Given the description of an element on the screen output the (x, y) to click on. 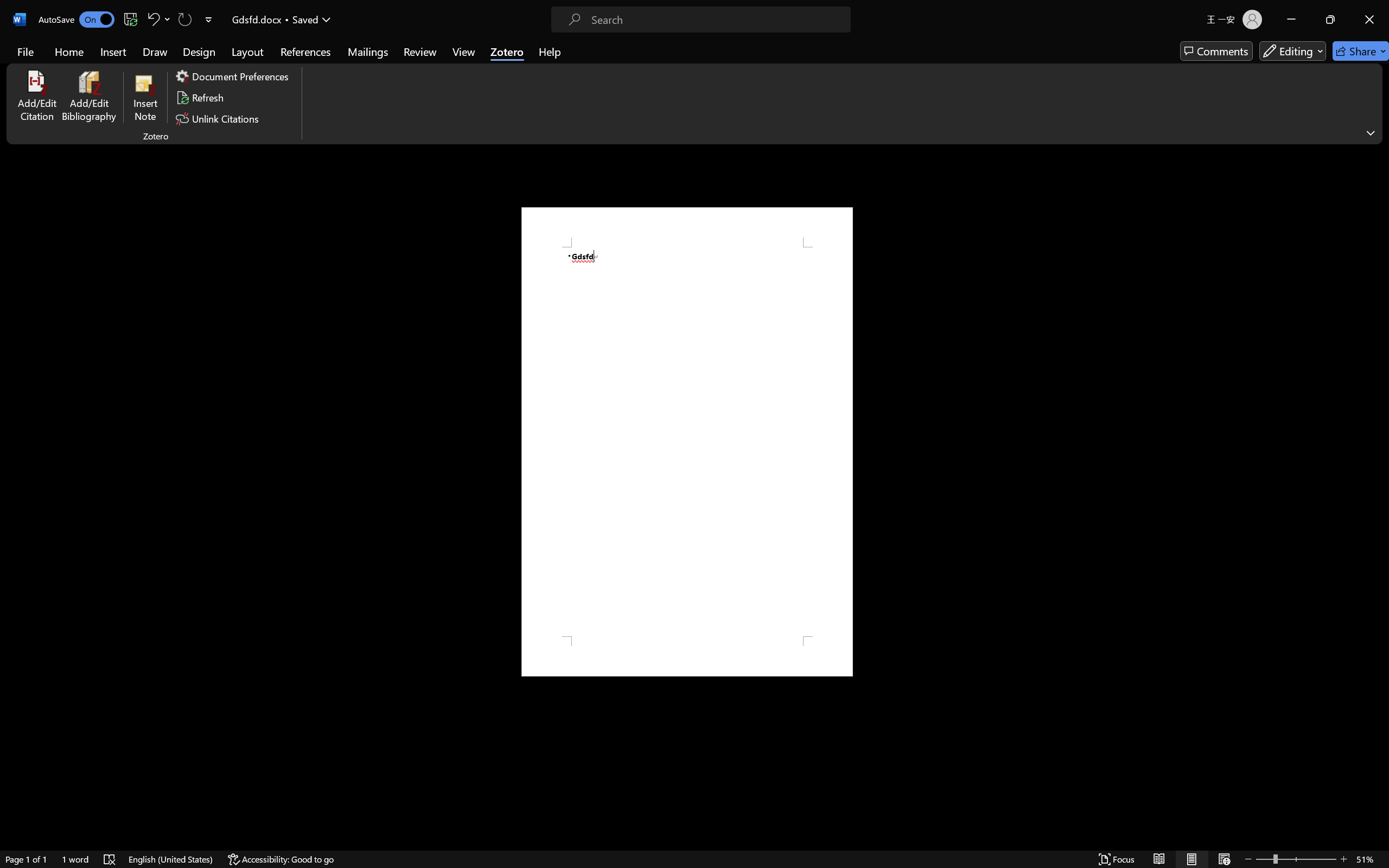
Page 1 content (686, 441)
